Given the description of an element on the screen output the (x, y) to click on. 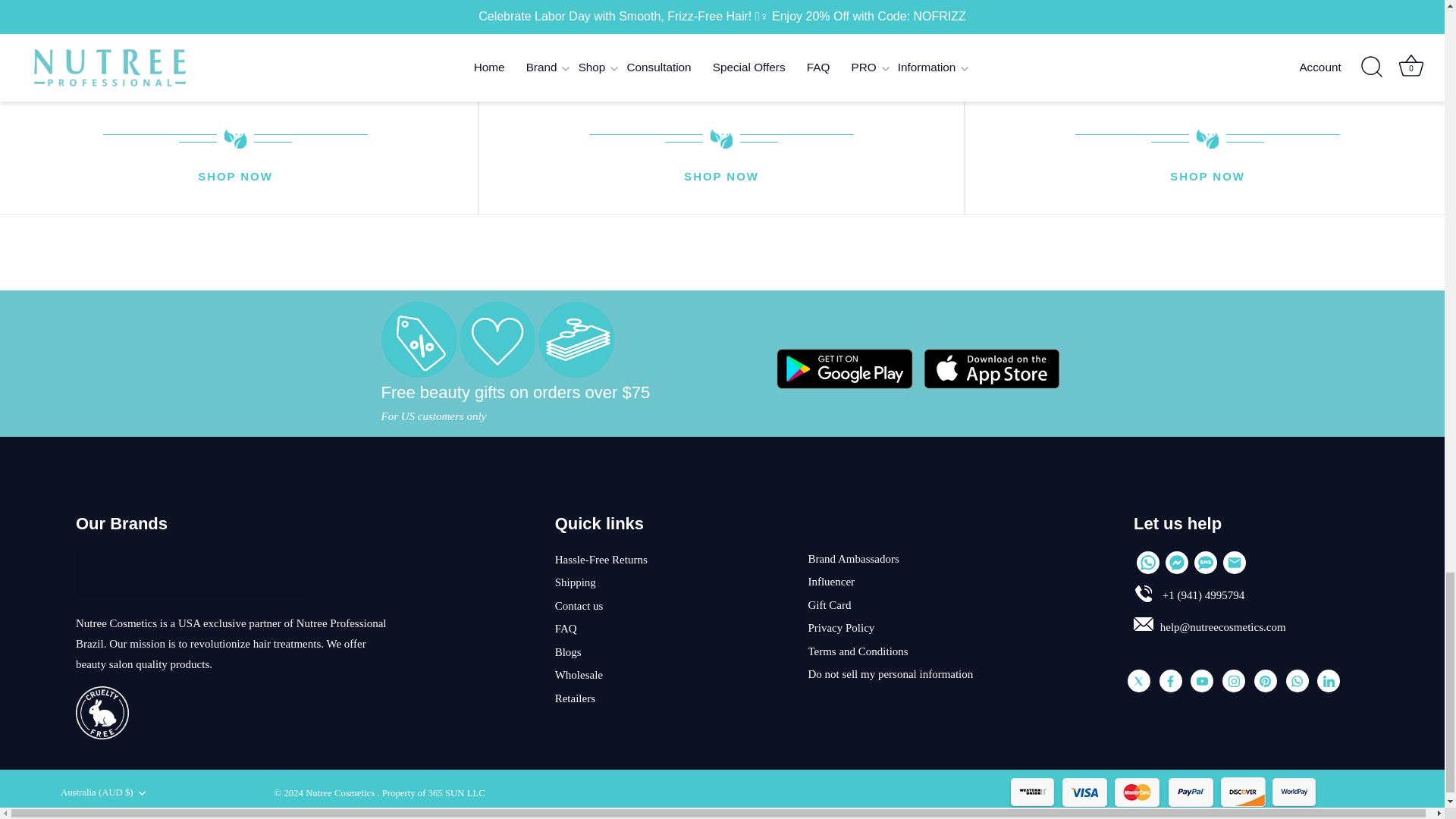
Shop Now (721, 177)
Shop Now (234, 177)
Shop Now (1207, 177)
